Given the description of an element on the screen output the (x, y) to click on. 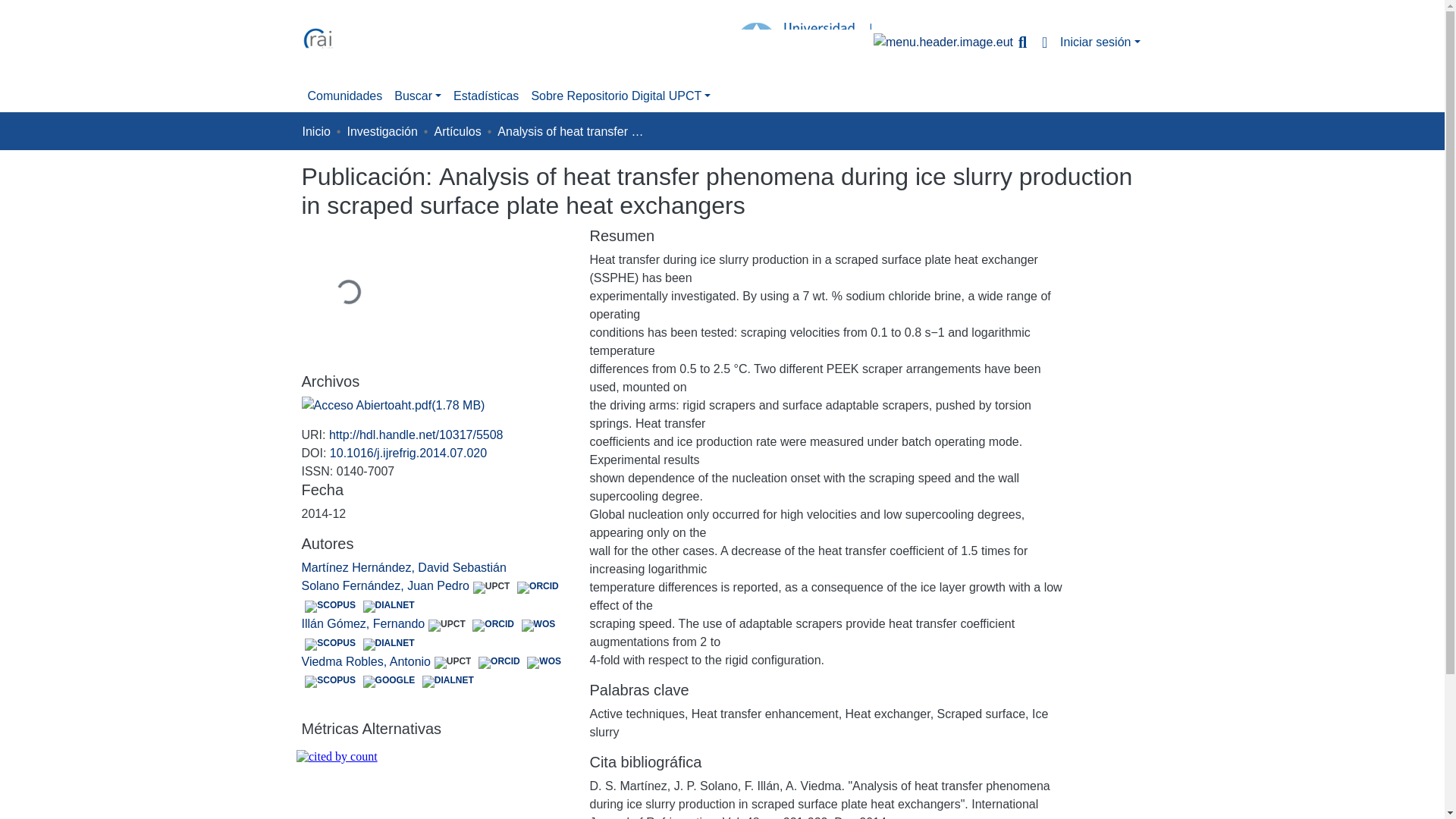
DIAL (389, 644)
Sobre Repositorio Digital UPCT (620, 96)
Autor UPCT (446, 625)
Buscar (1022, 42)
Autor UPCT (452, 662)
ORCID (498, 662)
SCOPUS (330, 681)
GOOGLE (389, 681)
ORCID (537, 587)
WOS (544, 662)
